Given the description of an element on the screen output the (x, y) to click on. 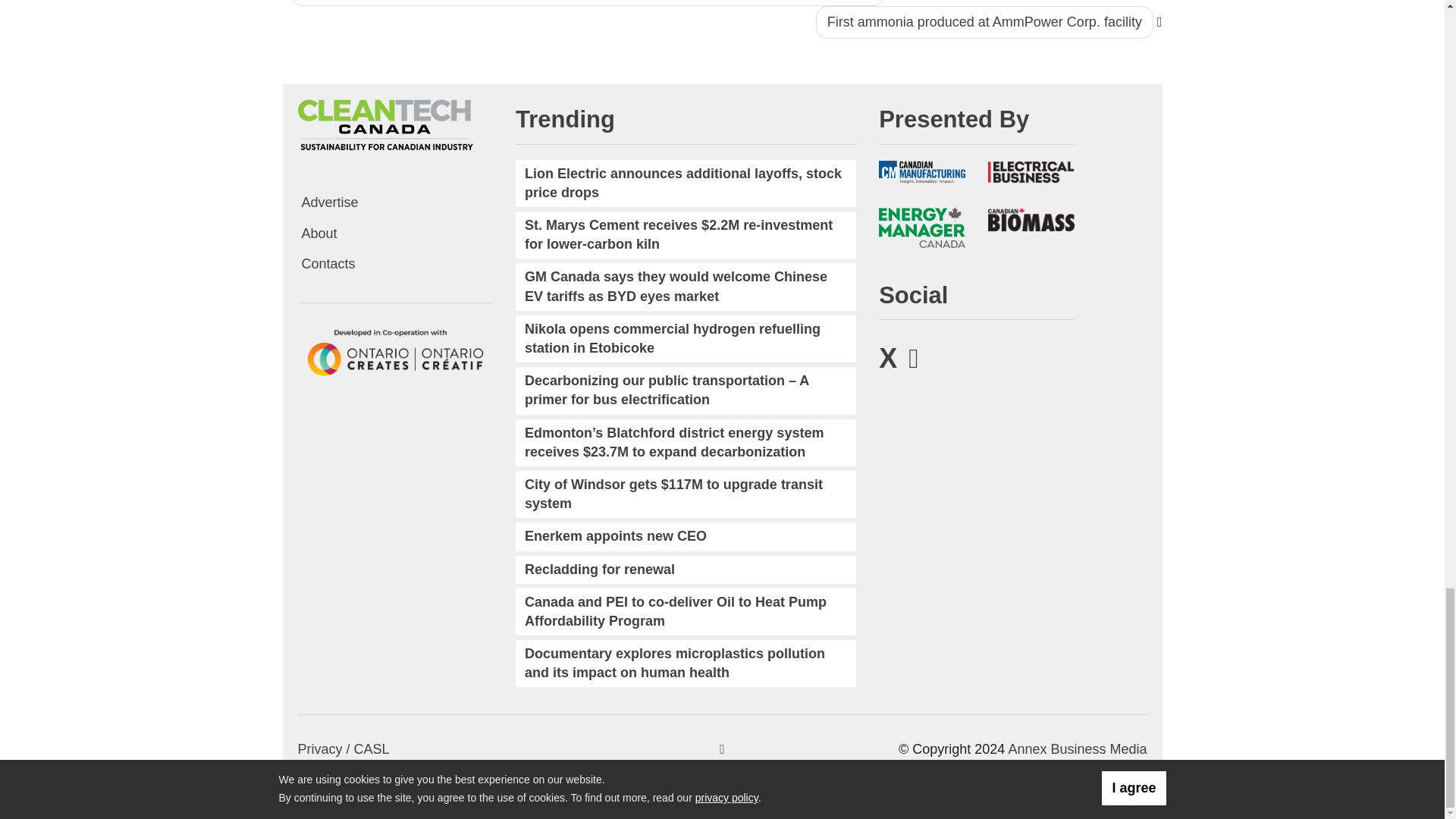
Clean Technology Canada (384, 124)
About (395, 233)
Annex Business Media (1077, 749)
First ammonia produced at AmmPower Corp. facility (984, 21)
Advertise (395, 202)
Contacts (395, 264)
